Given the description of an element on the screen output the (x, y) to click on. 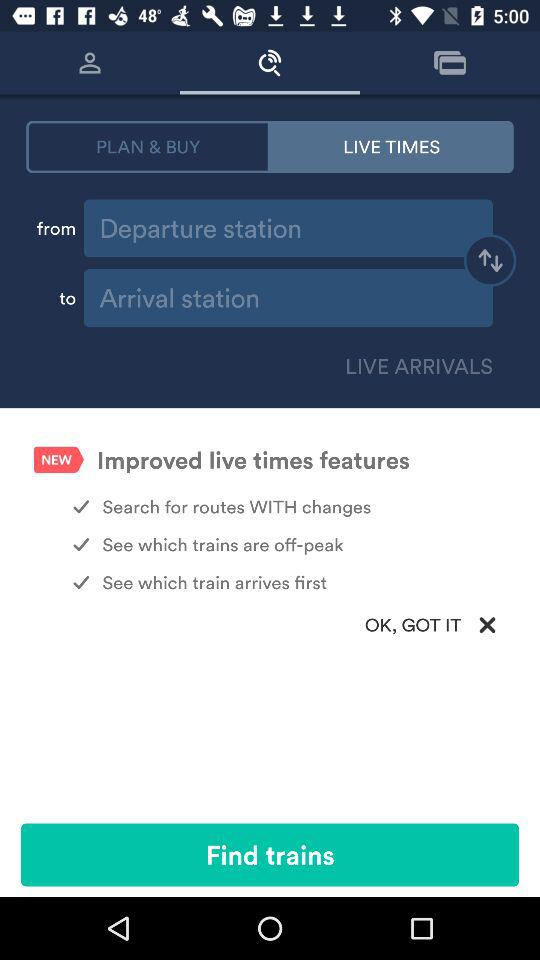
switch destination (489, 263)
